Given the description of an element on the screen output the (x, y) to click on. 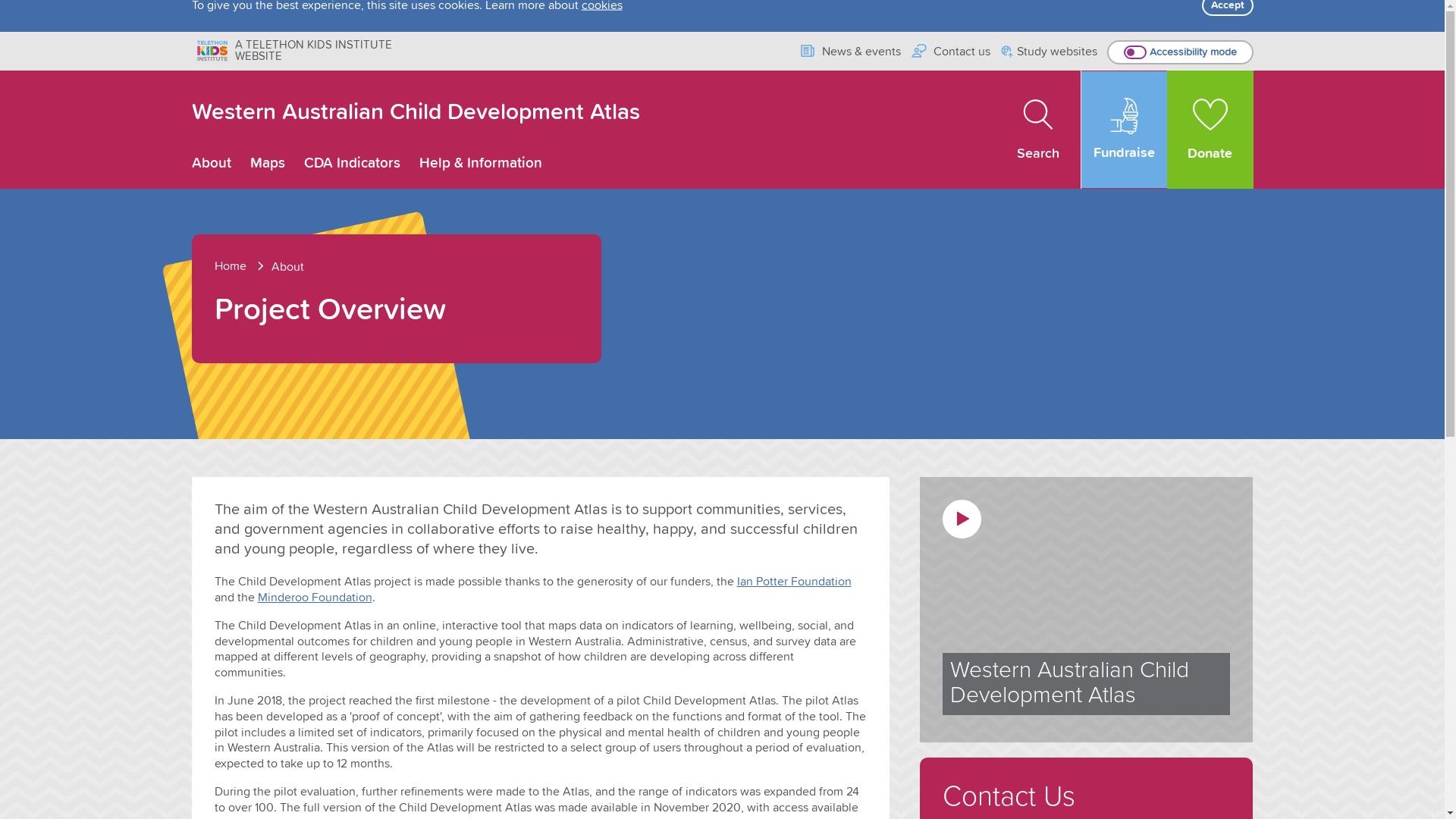
Fundraise Element type: text (1124, 129)
Help & Information Element type: text (479, 163)
About Element type: text (210, 163)
Donate Element type: text (1209, 129)
Search Element type: text (1038, 129)
About Element type: text (287, 266)
News & events Element type: text (849, 51)
Contact us Element type: text (950, 51)
Western Australian Child Development Atlas Element type: text (415, 111)
Home Element type: text (240, 266)
tki-logo-final Element type: text (212, 49)
Accessibility mode Element type: text (1180, 52)
Study websites Element type: text (1049, 52)
Maps Element type: text (267, 163)
CDA Indicators Element type: text (351, 163)
Minderoo Foundation Element type: text (314, 597)
Ian Potter Foundation Element type: text (794, 581)
